Given the description of an element on the screen output the (x, y) to click on. 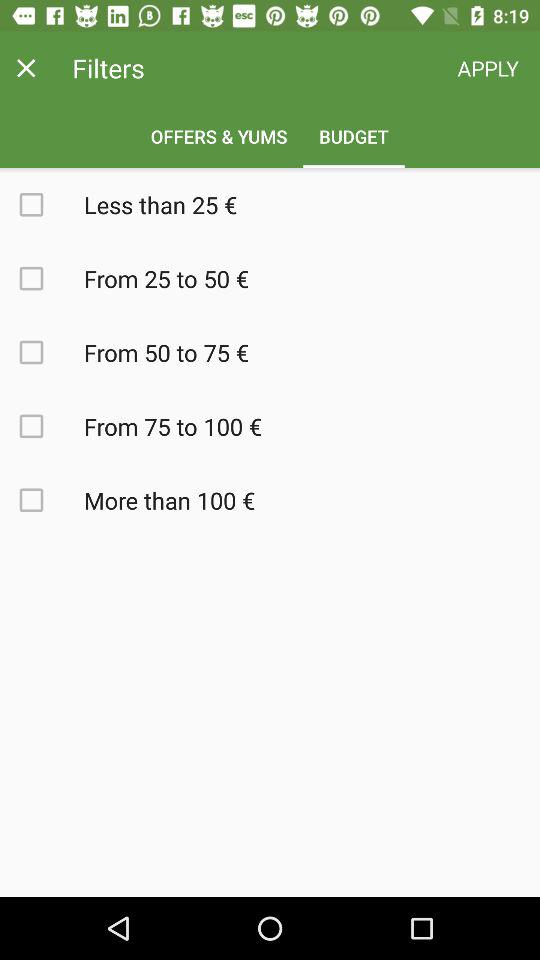
check to choose 25 to 50 (41, 278)
